Given the description of an element on the screen output the (x, y) to click on. 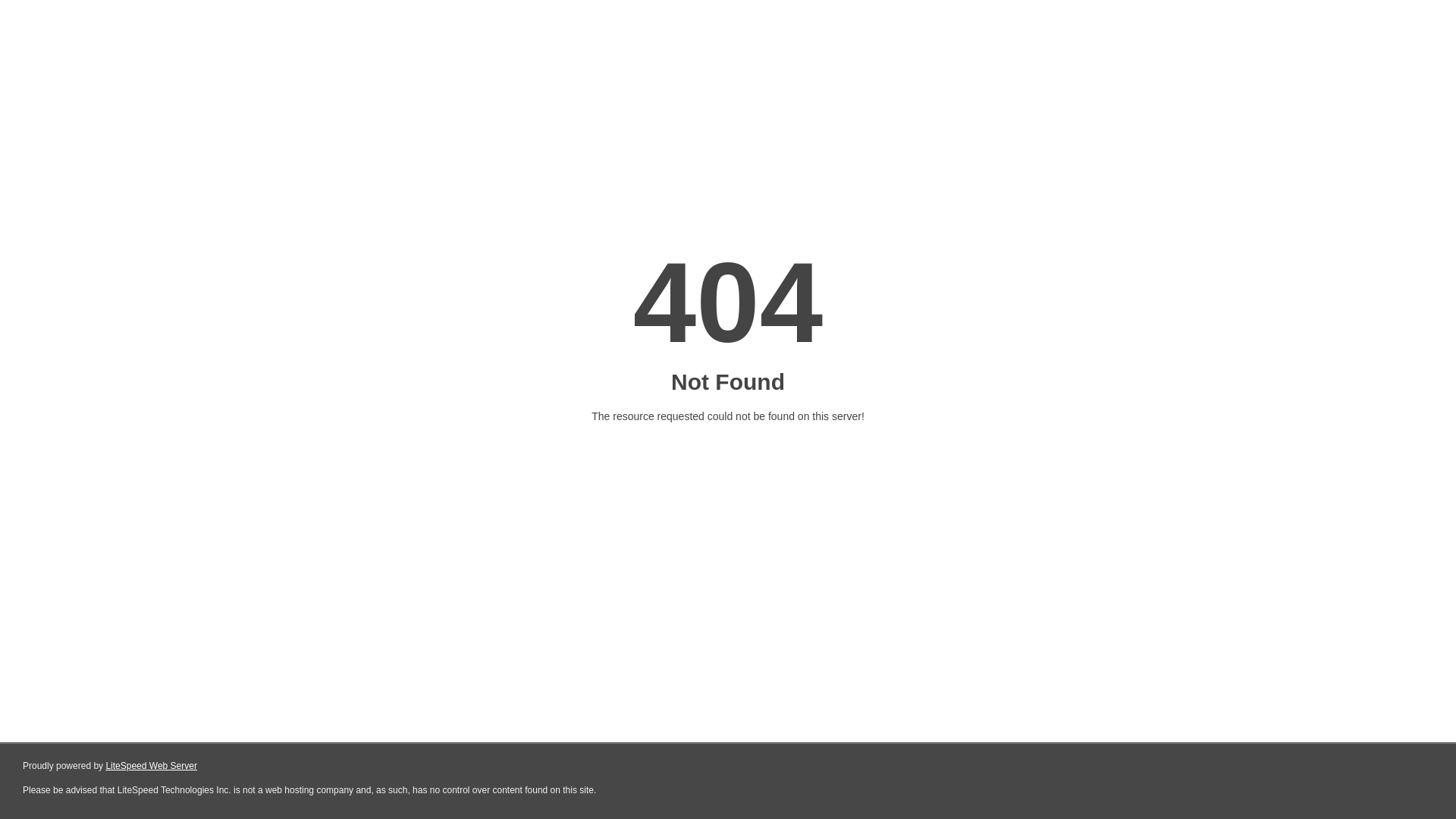
LiteSpeed Web Server Element type: text (151, 765)
